Given the description of an element on the screen output the (x, y) to click on. 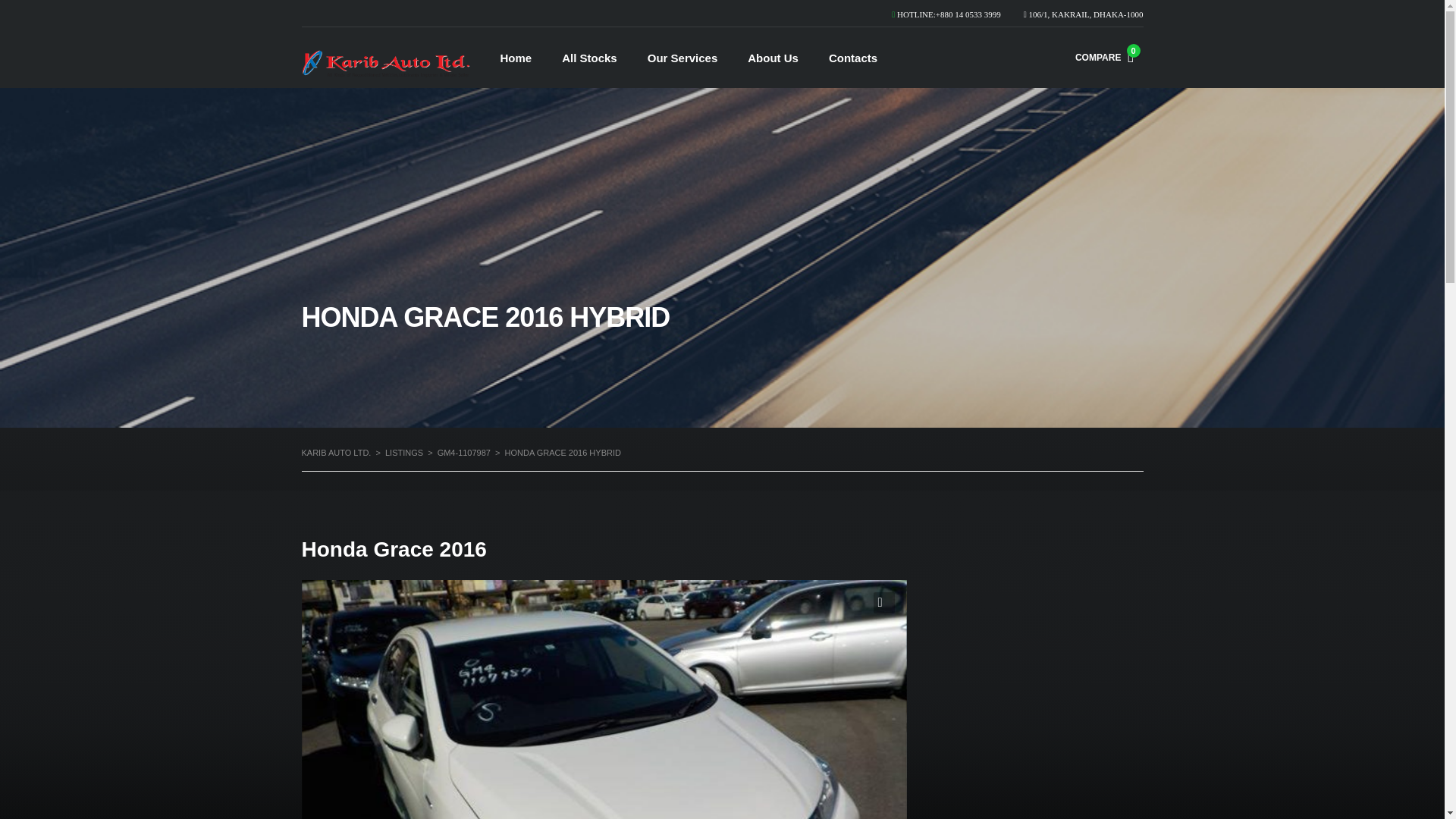
View compared items (1104, 57)
Home (515, 57)
Contacts (852, 57)
Go to Karib Auto Ltd.. (336, 452)
All Stocks (1104, 57)
Go to Listings. (589, 57)
Home (404, 452)
About Us (385, 63)
Go to the GM4-1107987 Chassis Number archives. (772, 57)
KARIB AUTO LTD. (464, 452)
LISTINGS (336, 452)
GM4-1107987 (404, 452)
Our Services (464, 452)
